Given the description of an element on the screen output the (x, y) to click on. 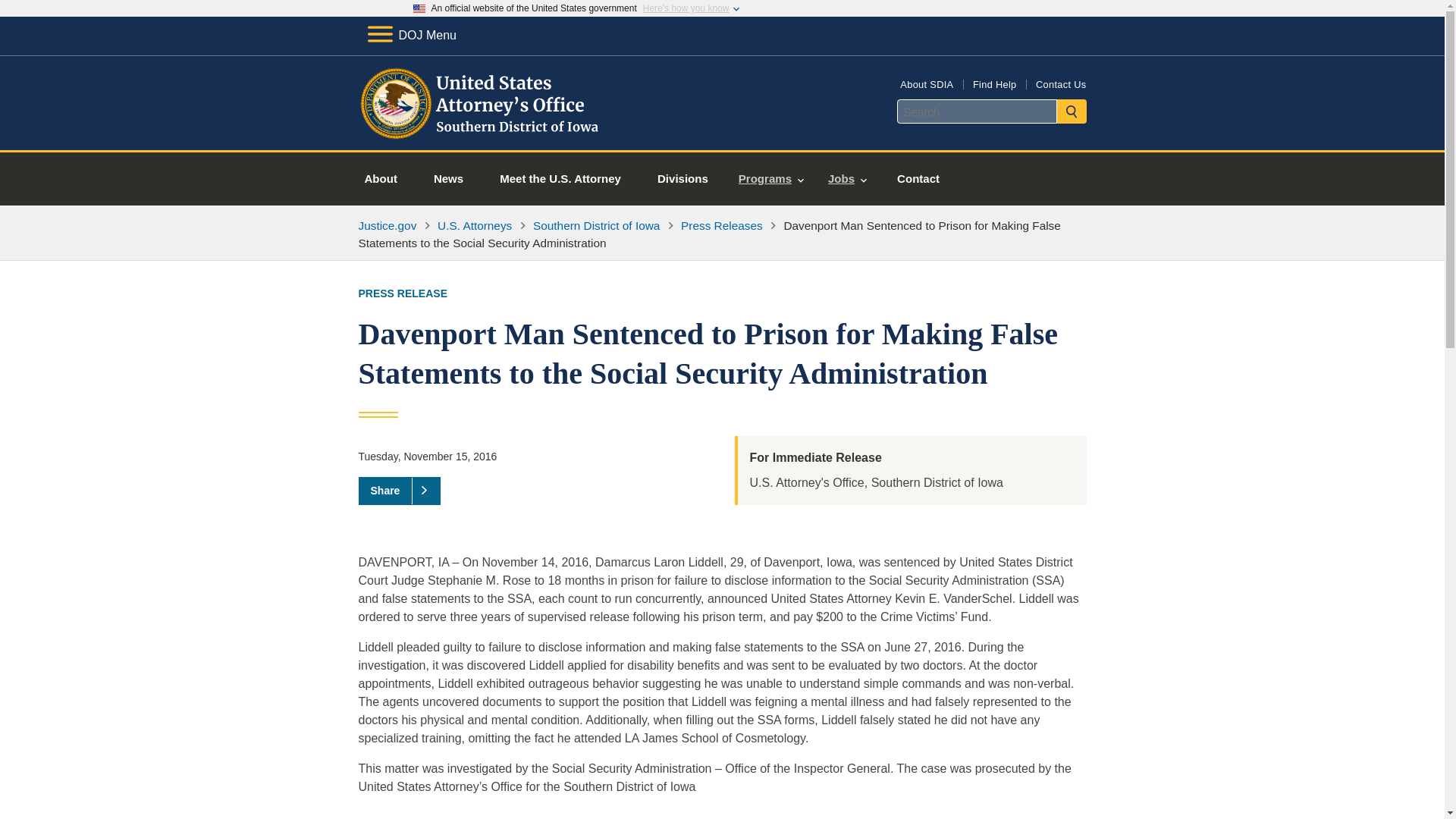
News (447, 179)
Justice.gov (387, 225)
Southern District of Iowa (595, 225)
Contact Us (1060, 84)
DOJ Menu (411, 35)
Programs (770, 179)
Divisions (682, 179)
About (380, 179)
About SDIA (926, 84)
Jobs (847, 179)
Home (481, 132)
Meet the U.S. Attorney (560, 179)
Find Help (994, 84)
Here's how you know (686, 8)
U.S. Attorneys (475, 225)
